Given the description of an element on the screen output the (x, y) to click on. 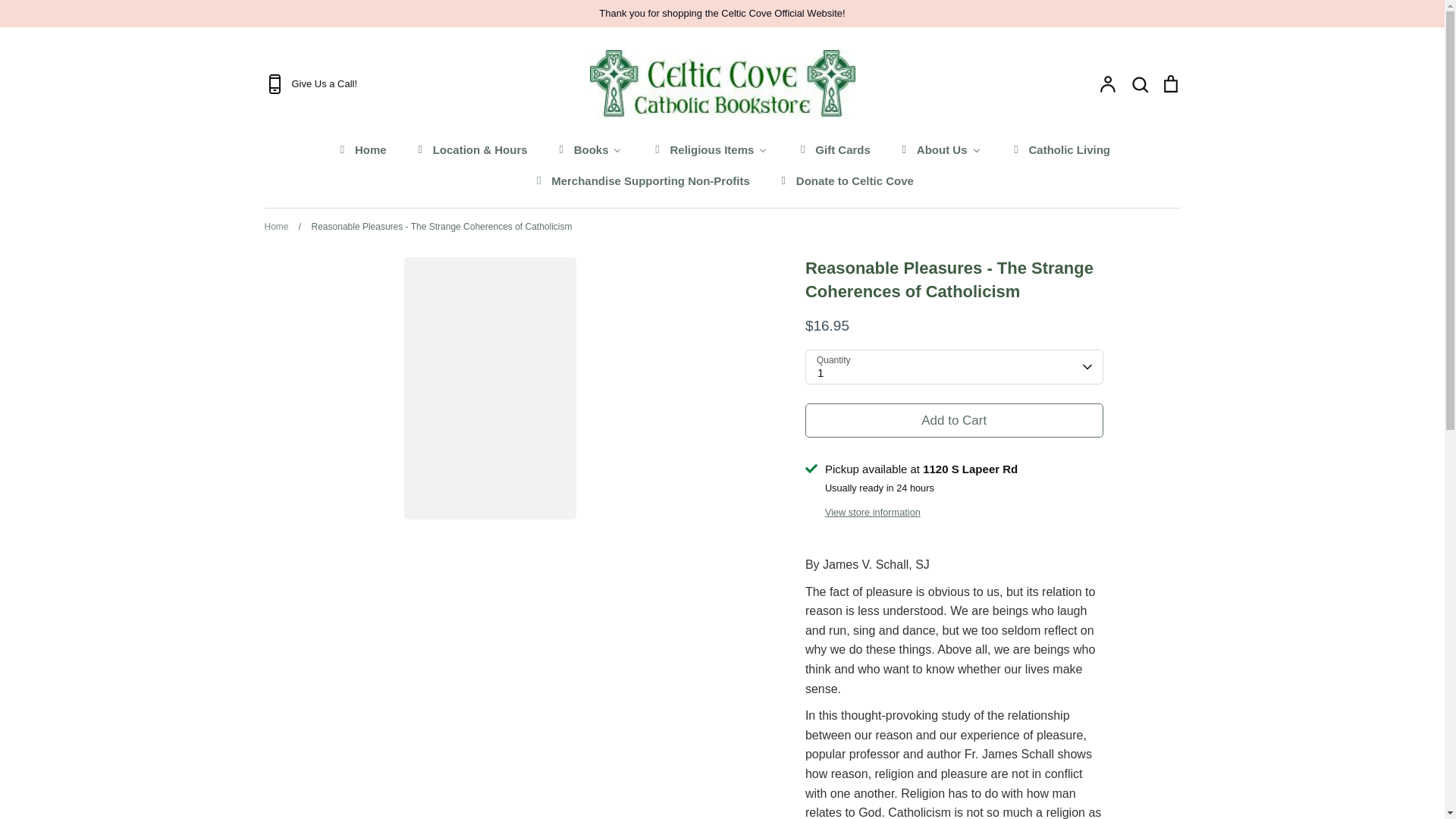
Cart (1169, 84)
Search (1139, 84)
Give Us a Call! (414, 84)
Home (360, 149)
Account (1107, 84)
Books (588, 149)
